Given the description of an element on the screen output the (x, y) to click on. 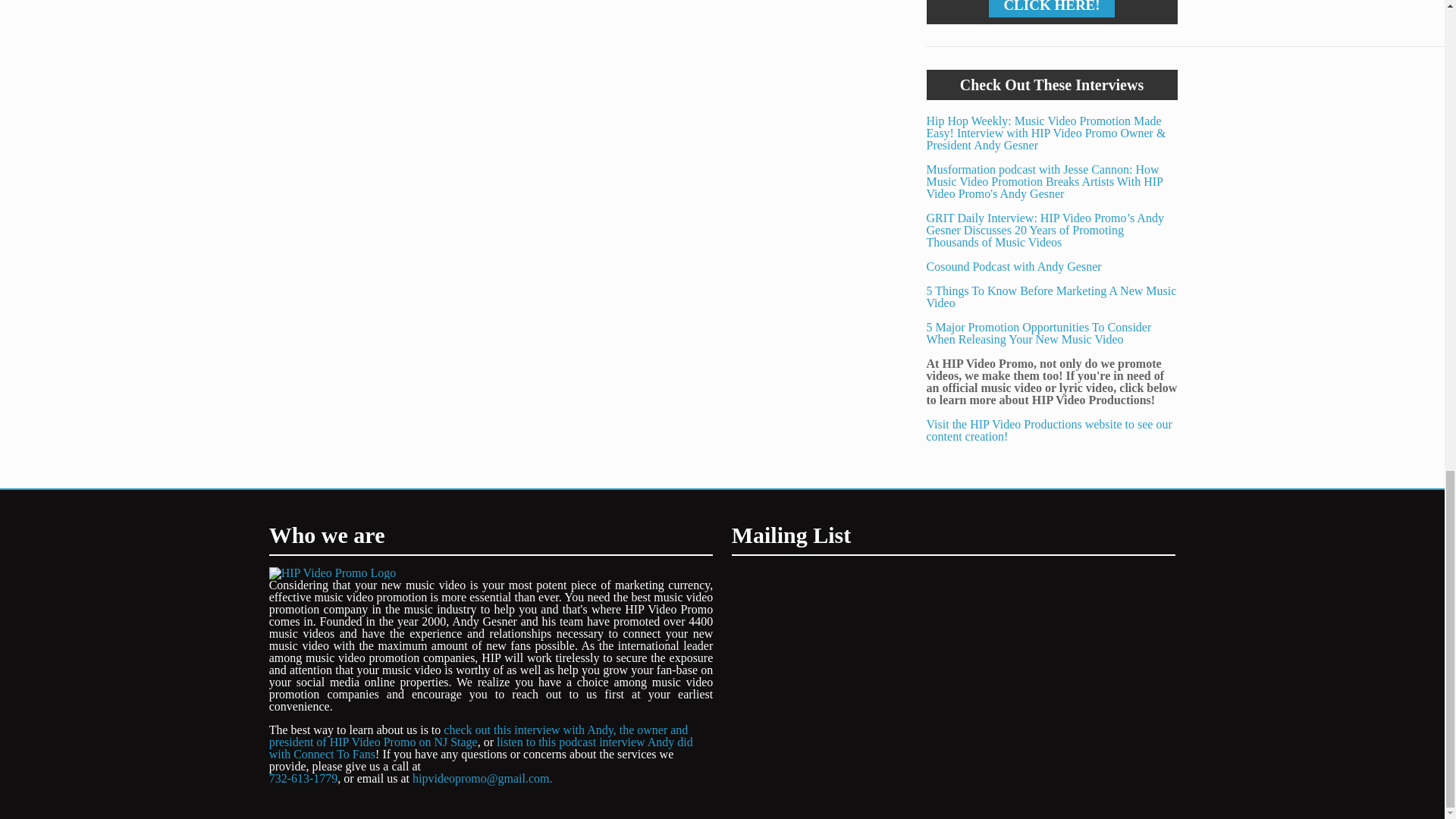
Cosound Podcast with Andy Gesner (1014, 266)
5 Things To Know Before Marketing A New Music Video (1051, 302)
CLICK HERE! (1051, 6)
